Given the description of an element on the screen output the (x, y) to click on. 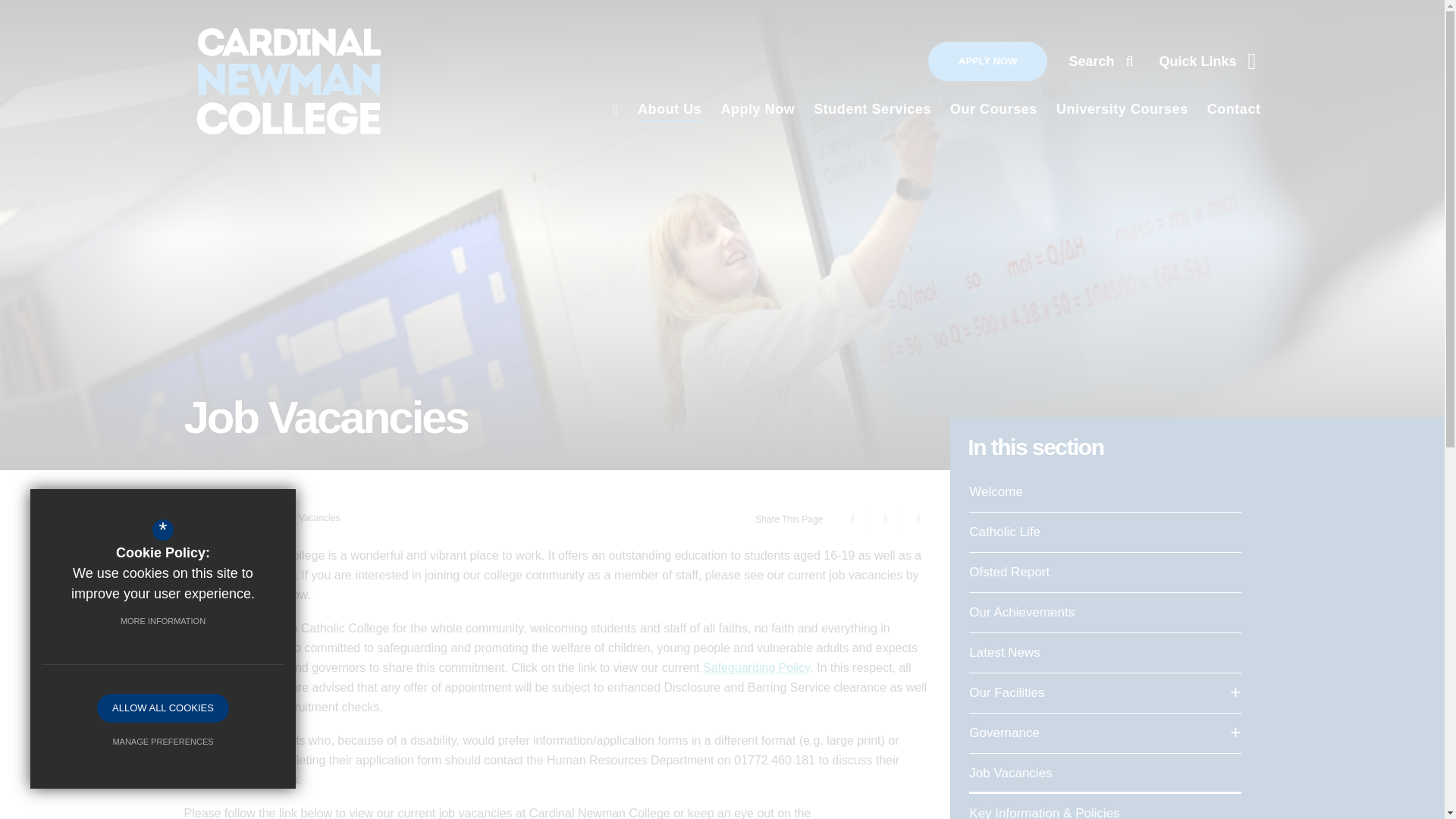
Share on Facebook (850, 518)
Quick Links (1207, 60)
Email this page (915, 518)
Apply Now (757, 108)
APPLY NOW (987, 60)
 Cardinal Newman College (265, 81)
Share on Twitter (882, 518)
Search (1100, 60)
About Us (669, 108)
Student Services (872, 108)
Search site (1100, 60)
